Given the description of an element on the screen output the (x, y) to click on. 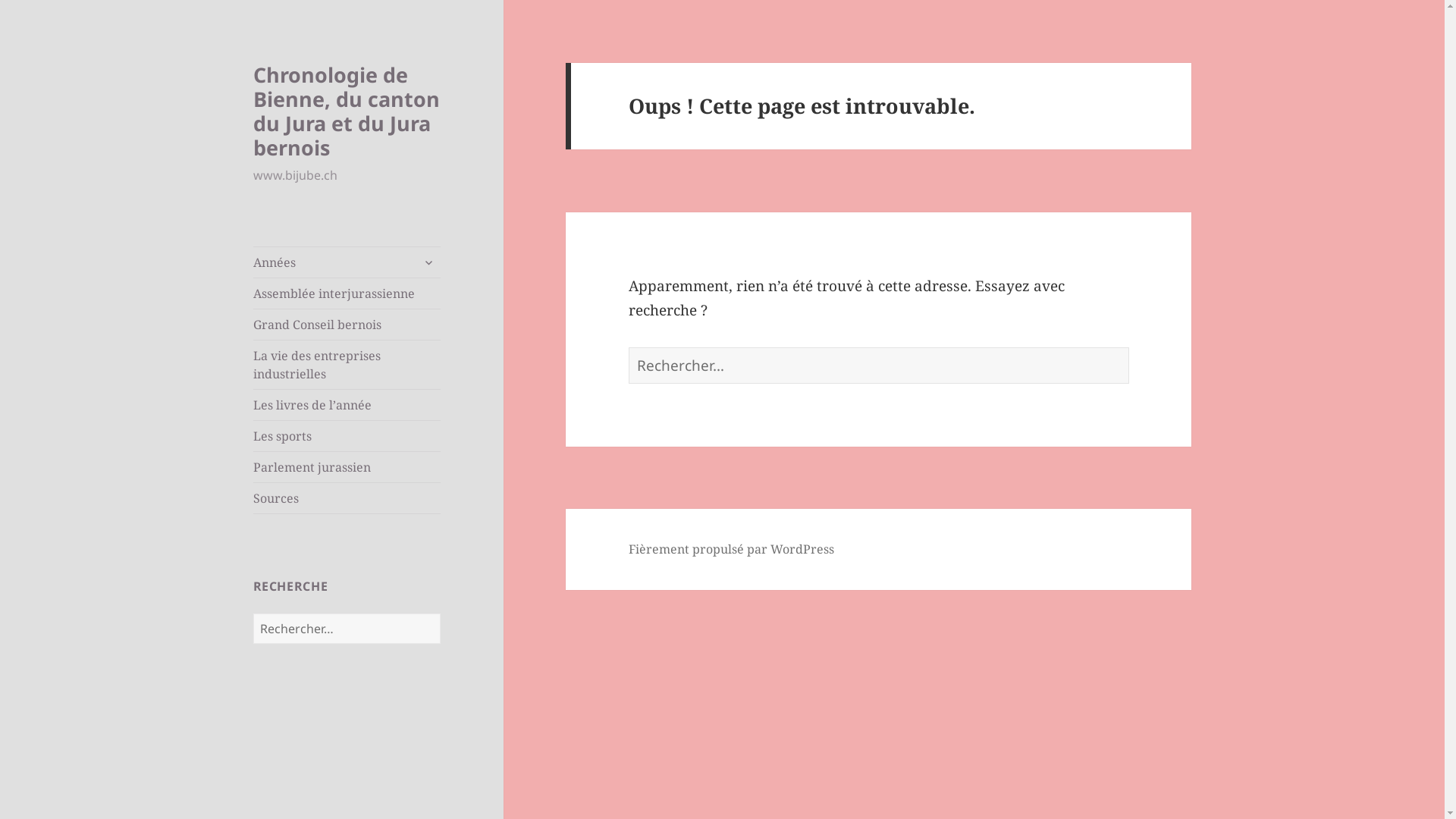
Rechercher Element type: text (439, 612)
La vie des entreprises industrielles Element type: text (347, 364)
Chronologie de Bienne, du canton du Jura et du Jura bernois Element type: text (346, 110)
Rechercher Element type: text (1128, 346)
Sources Element type: text (347, 498)
Parlement jurassien Element type: text (347, 466)
Grand Conseil bernois Element type: text (347, 324)
Les sports Element type: text (347, 435)
ouvrir le sous-menu Element type: text (428, 262)
